Given the description of an element on the screen output the (x, y) to click on. 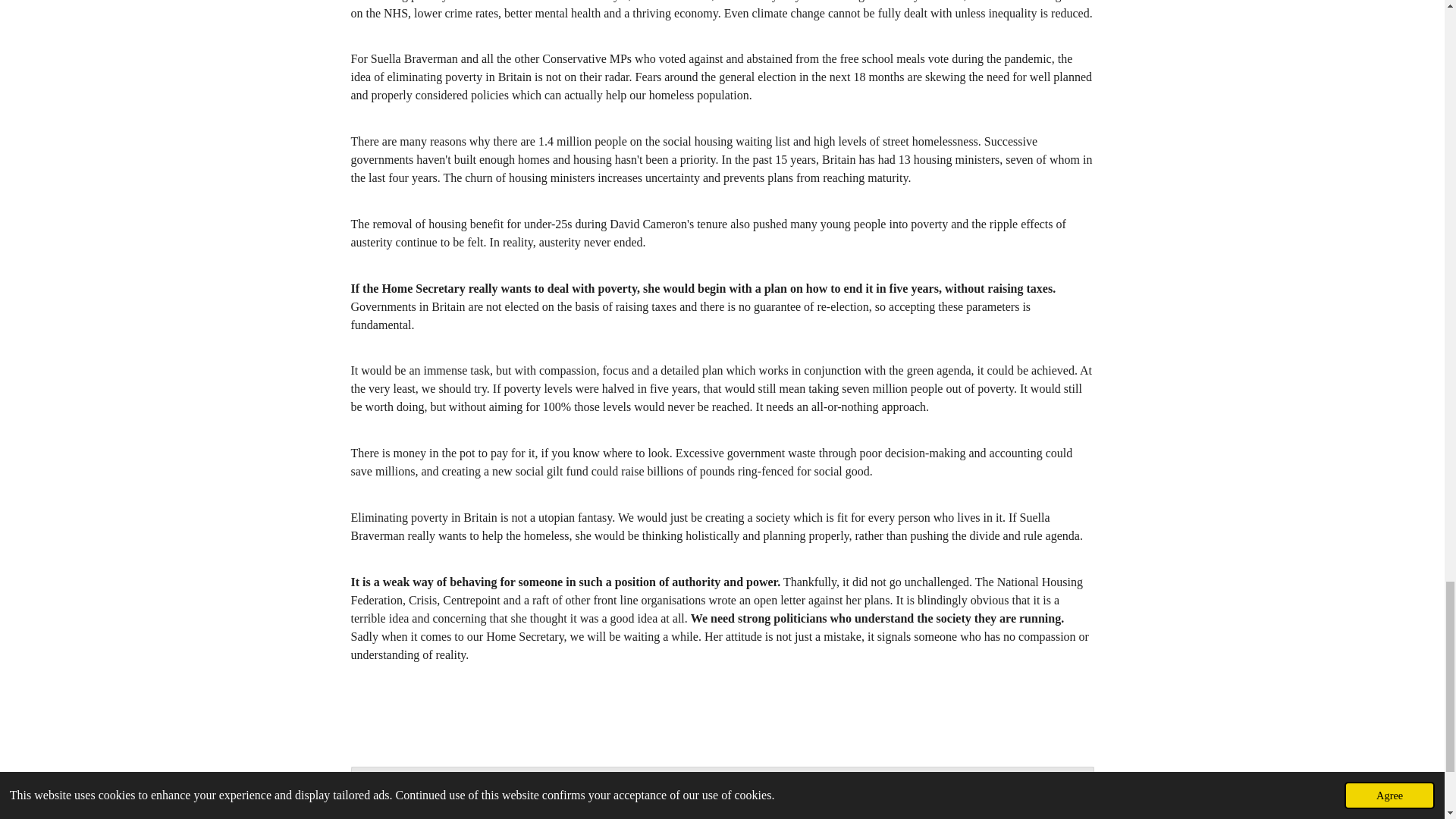
Webador (842, 801)
